Given the description of an element on the screen output the (x, y) to click on. 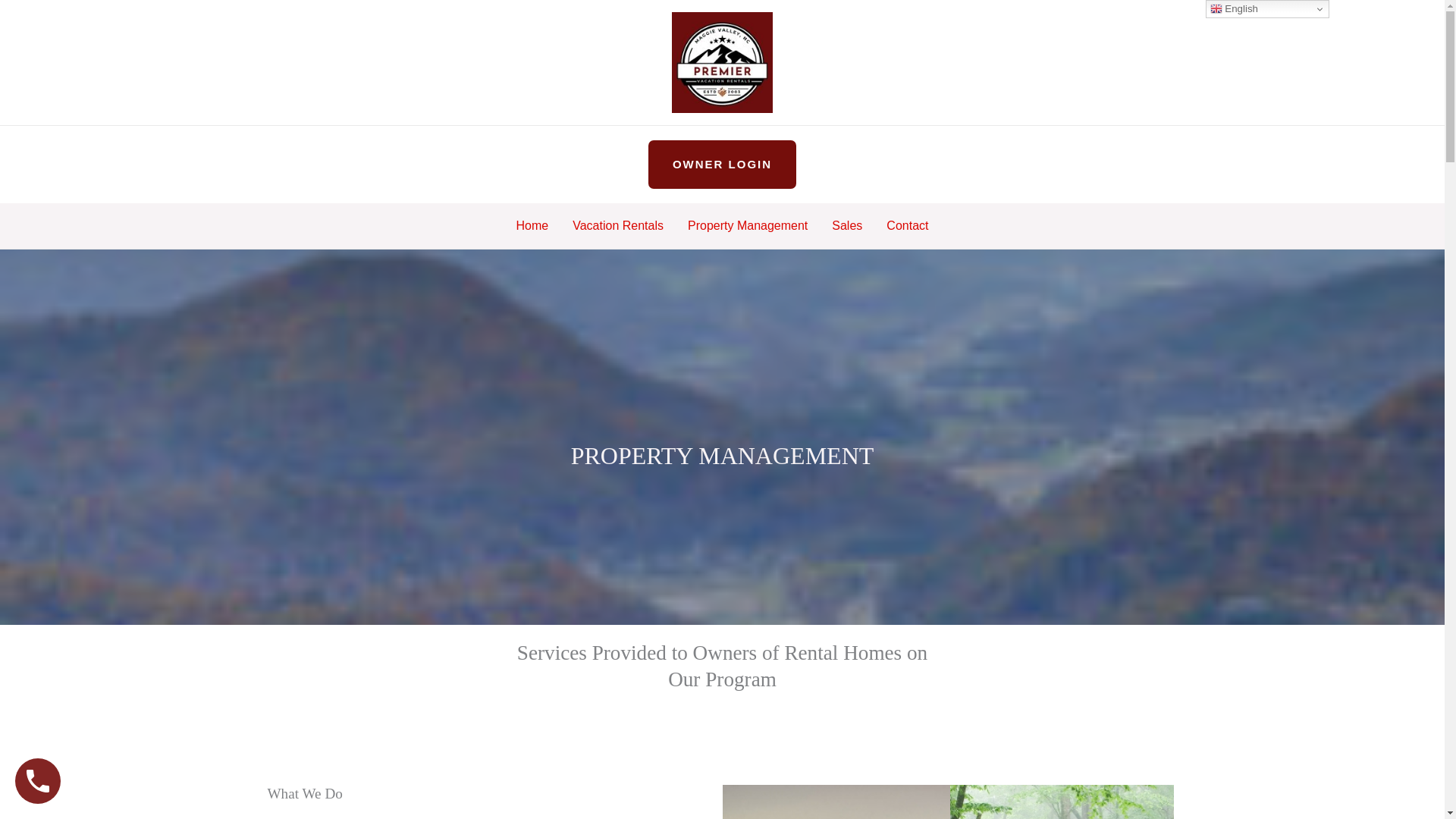
OWNER LOGIN (721, 164)
Vacation Rentals (617, 225)
Contact (907, 225)
English (1267, 9)
Sales (847, 225)
Property Management (747, 225)
Home (531, 225)
